Given the description of an element on the screen output the (x, y) to click on. 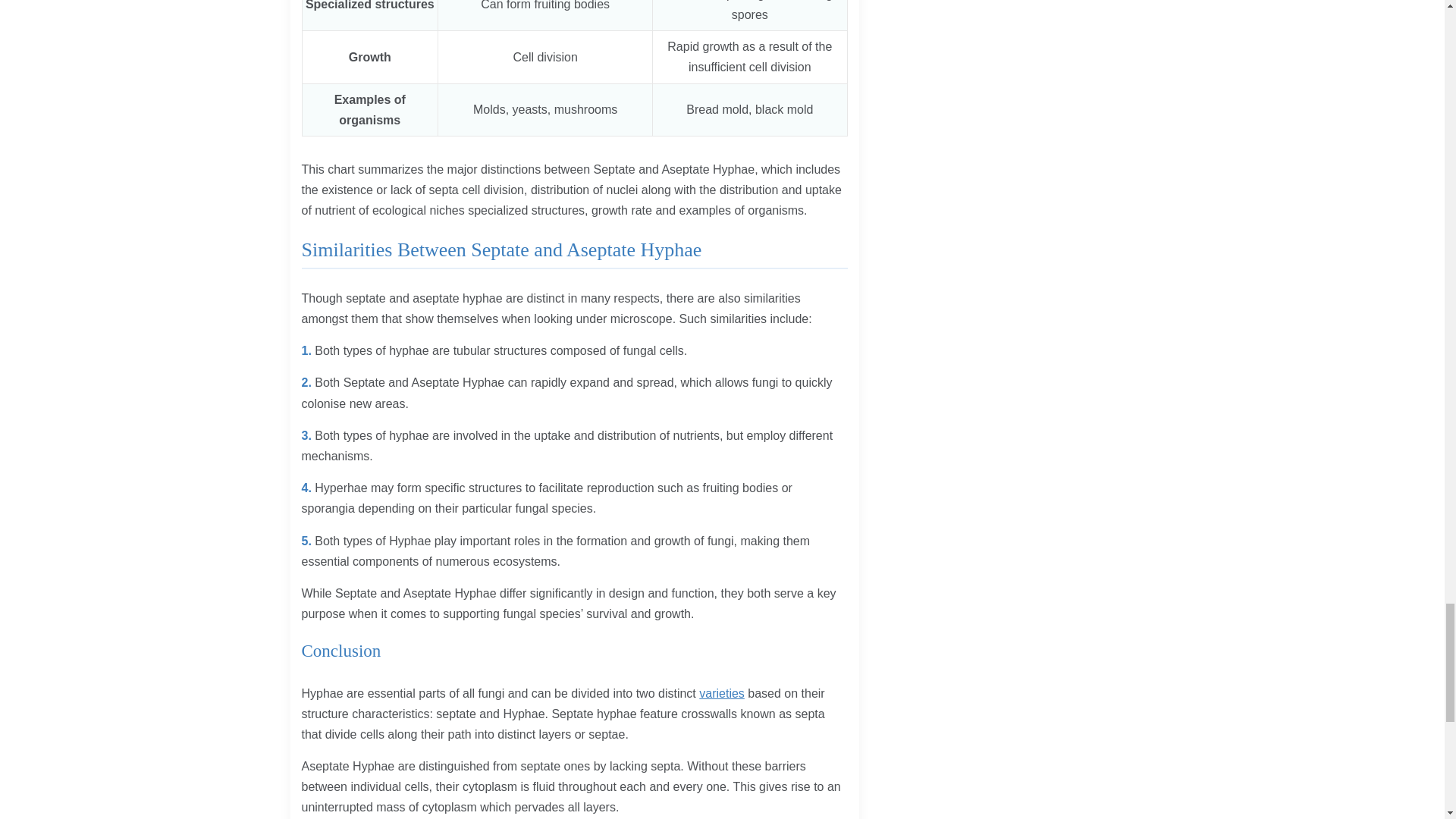
varieties (721, 693)
